Given the description of an element on the screen output the (x, y) to click on. 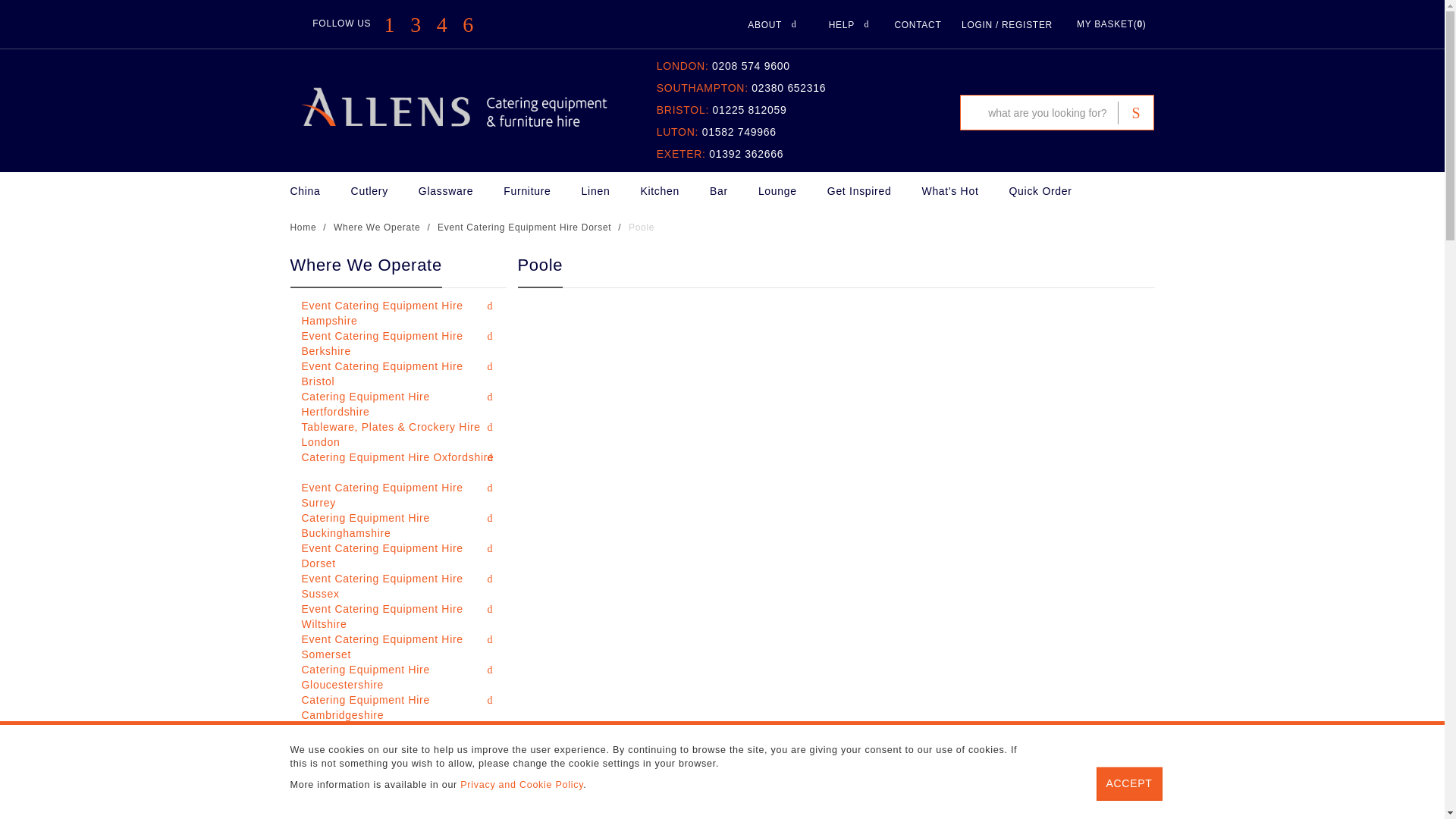
CONTACT (916, 24)
Click to contact us. (916, 24)
Click to log in. (1006, 24)
01225 812059 (750, 110)
China (319, 190)
HELP (849, 29)
02380 652316 (788, 87)
01582 749966 (738, 132)
Privacy Notice (521, 784)
0208 574 9600 (750, 65)
